Given the description of an element on the screen output the (x, y) to click on. 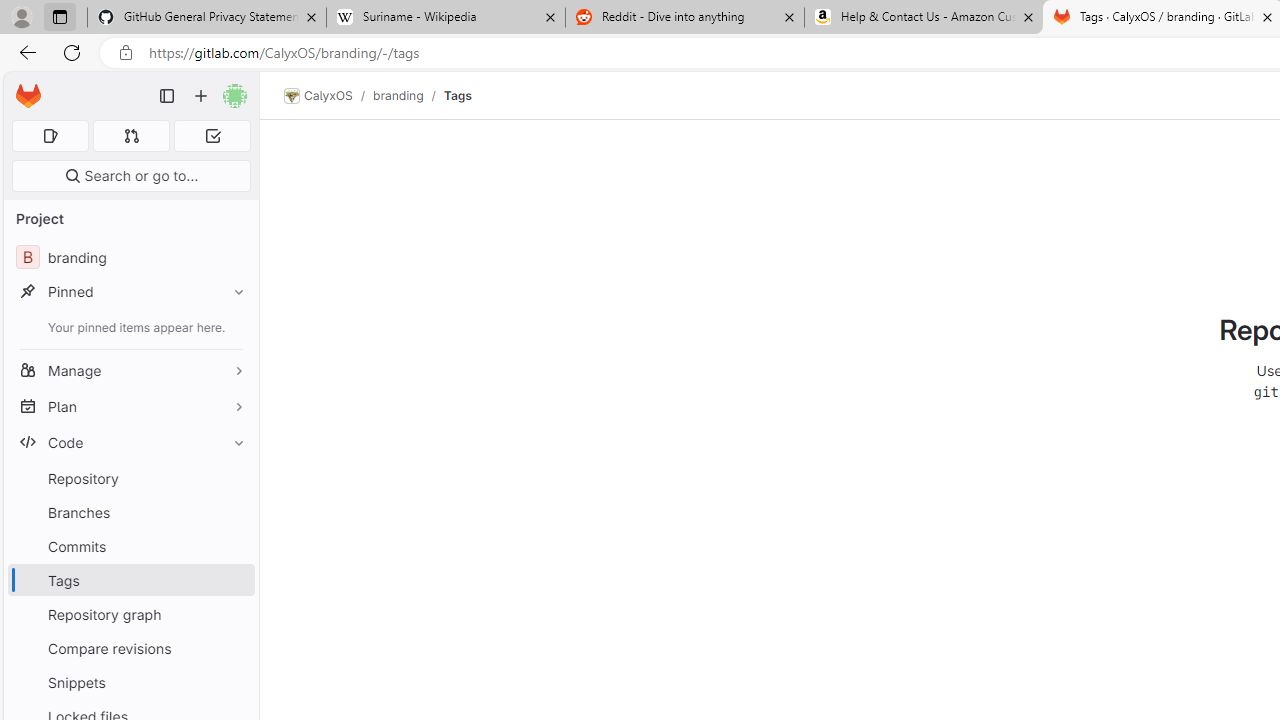
Pin Tags (234, 580)
Pin Branches (234, 511)
Plan (130, 406)
Repository (130, 478)
Bbranding (130, 257)
Tags (457, 95)
Repository graph (130, 614)
Snippets (130, 682)
Repository (130, 478)
Suriname - Wikipedia (445, 17)
CalyxOS/ (328, 96)
